Given the description of an element on the screen output the (x, y) to click on. 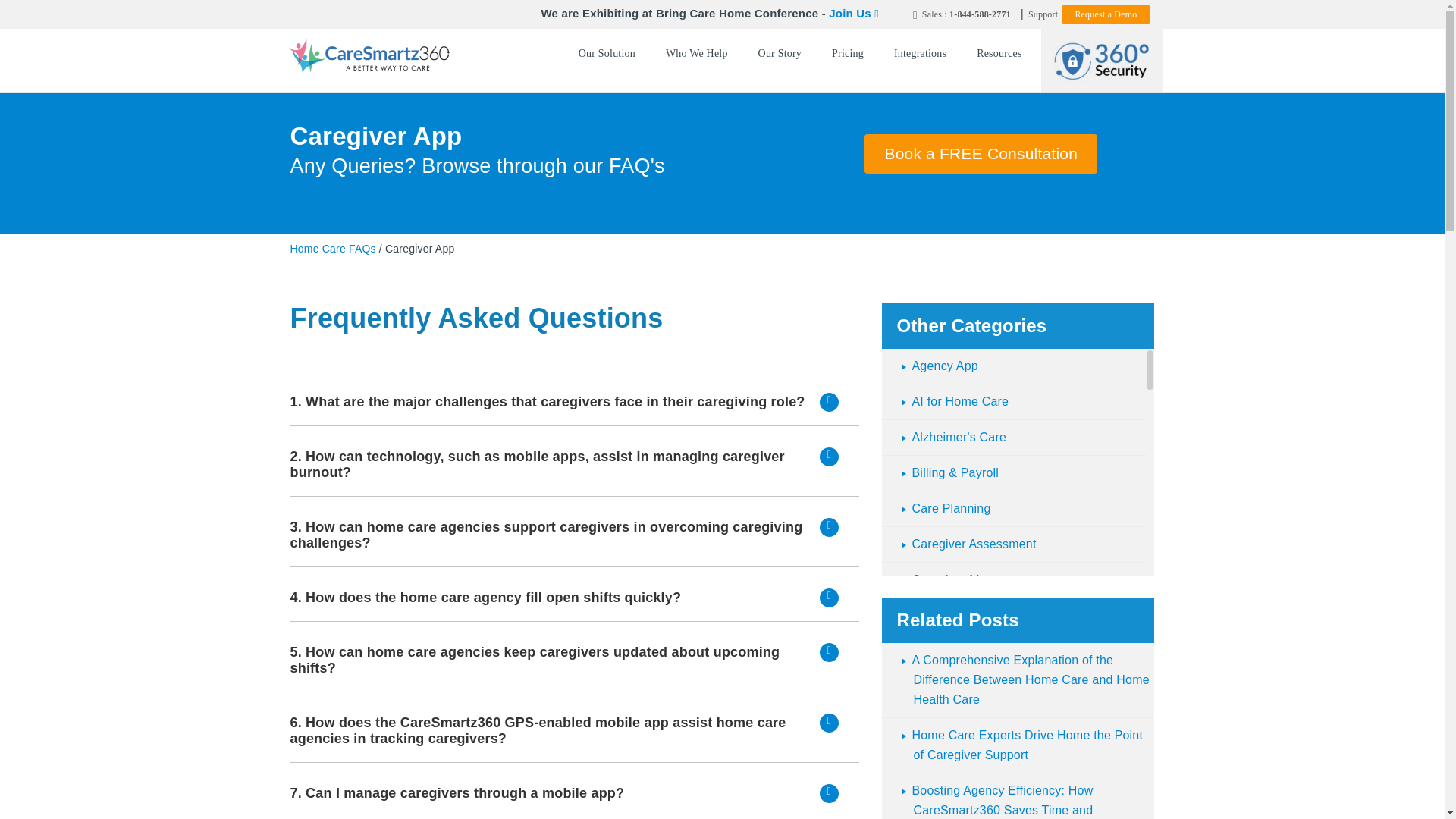
Join Us (853, 12)
Support (1042, 14)
Sales : 1-844-588-2771 (961, 14)
Request a Demo (1105, 14)
